Given the description of an element on the screen output the (x, y) to click on. 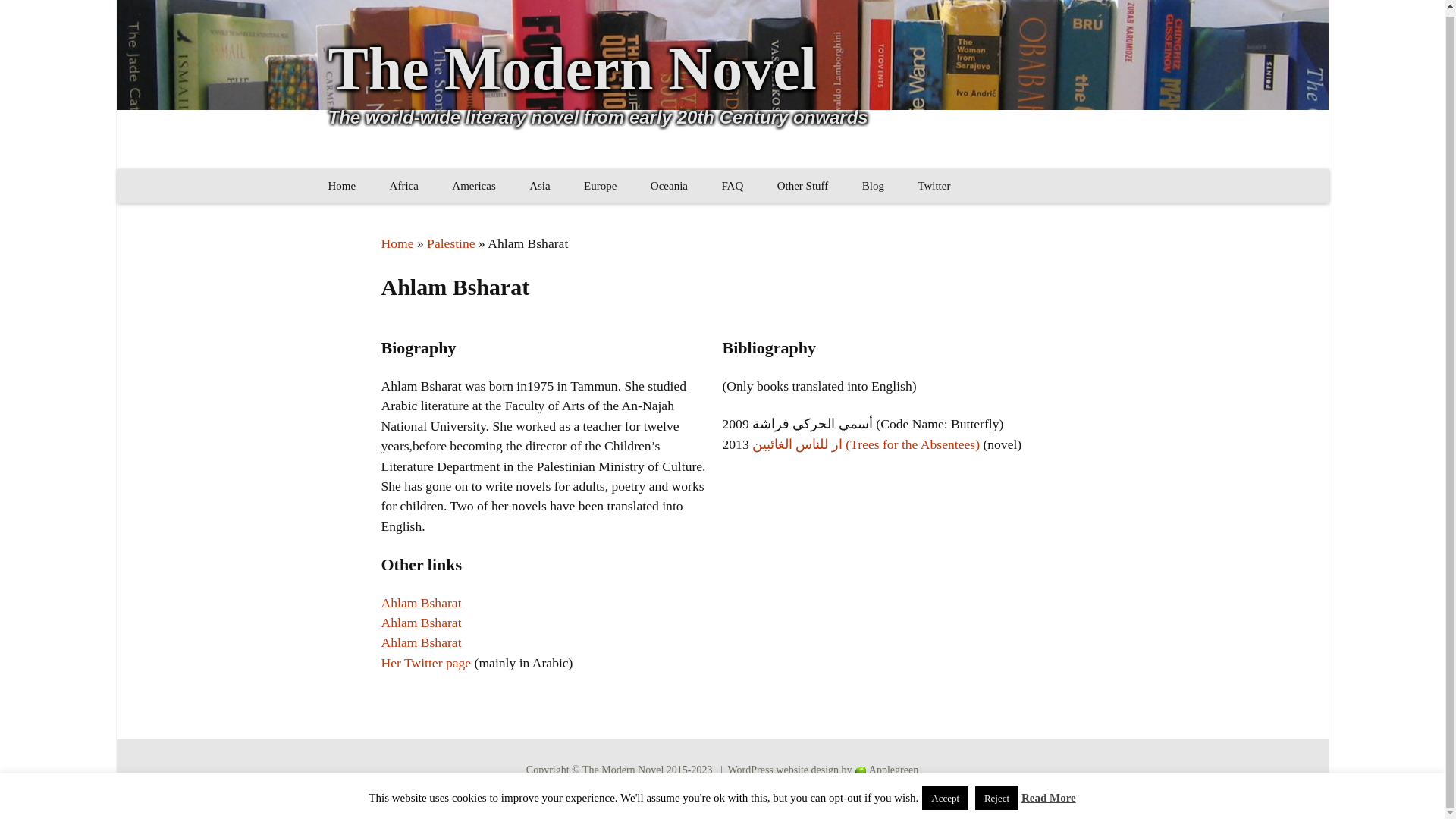
Home (396, 242)
Eastern Europe (644, 220)
Home (342, 185)
Oceania (668, 185)
Blog (873, 185)
Asia (539, 185)
Palestine (451, 242)
Ahlam Bsharat (420, 642)
Africa (403, 185)
Twitter (933, 185)
